Given the description of an element on the screen output the (x, y) to click on. 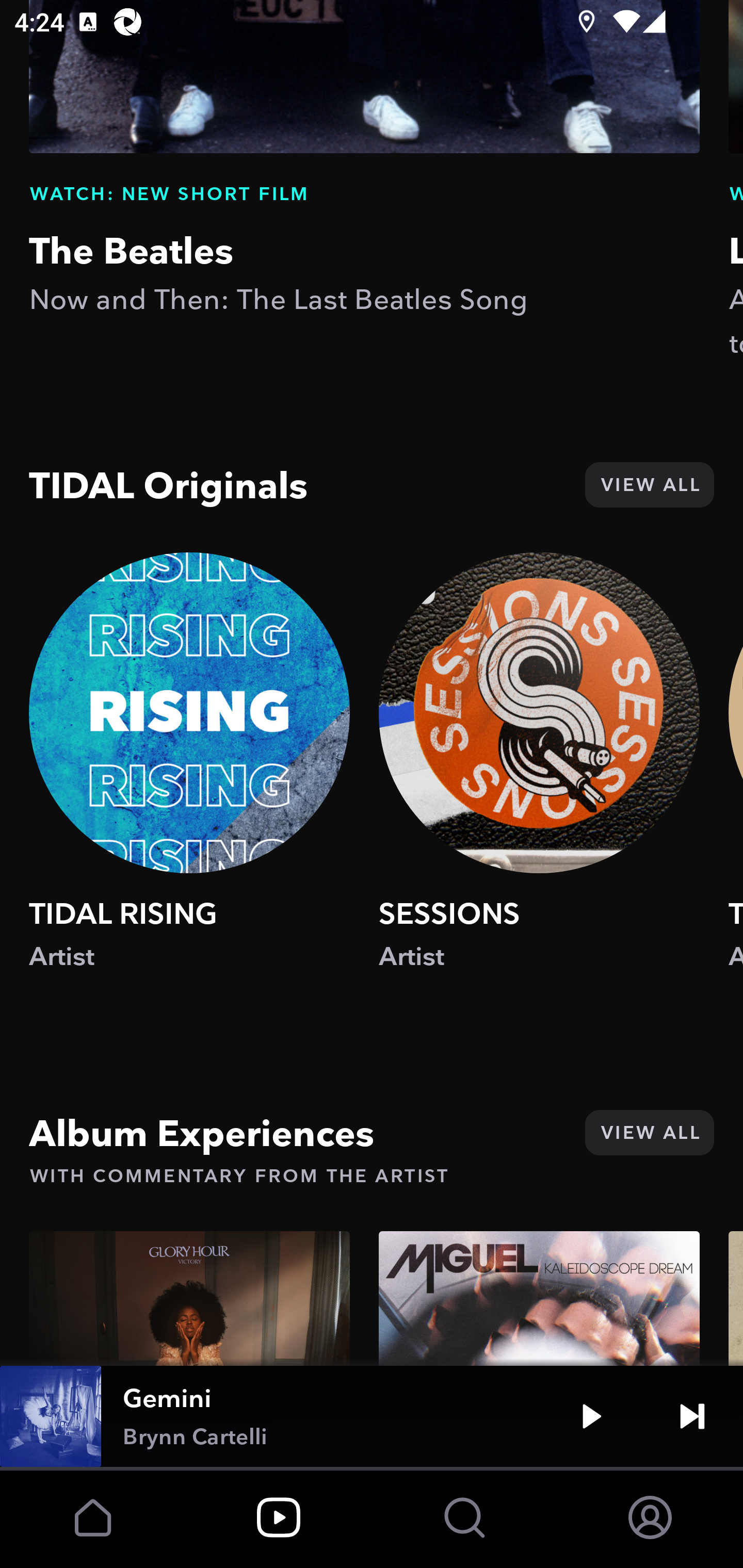
VIEW ALL (649, 485)
TIDAL RISING Artist (188, 779)
SESSIONS Artist (538, 779)
VIEW ALL (649, 1132)
Gemini Brynn Cartelli Play (371, 1416)
Play (590, 1416)
